Given the description of an element on the screen output the (x, y) to click on. 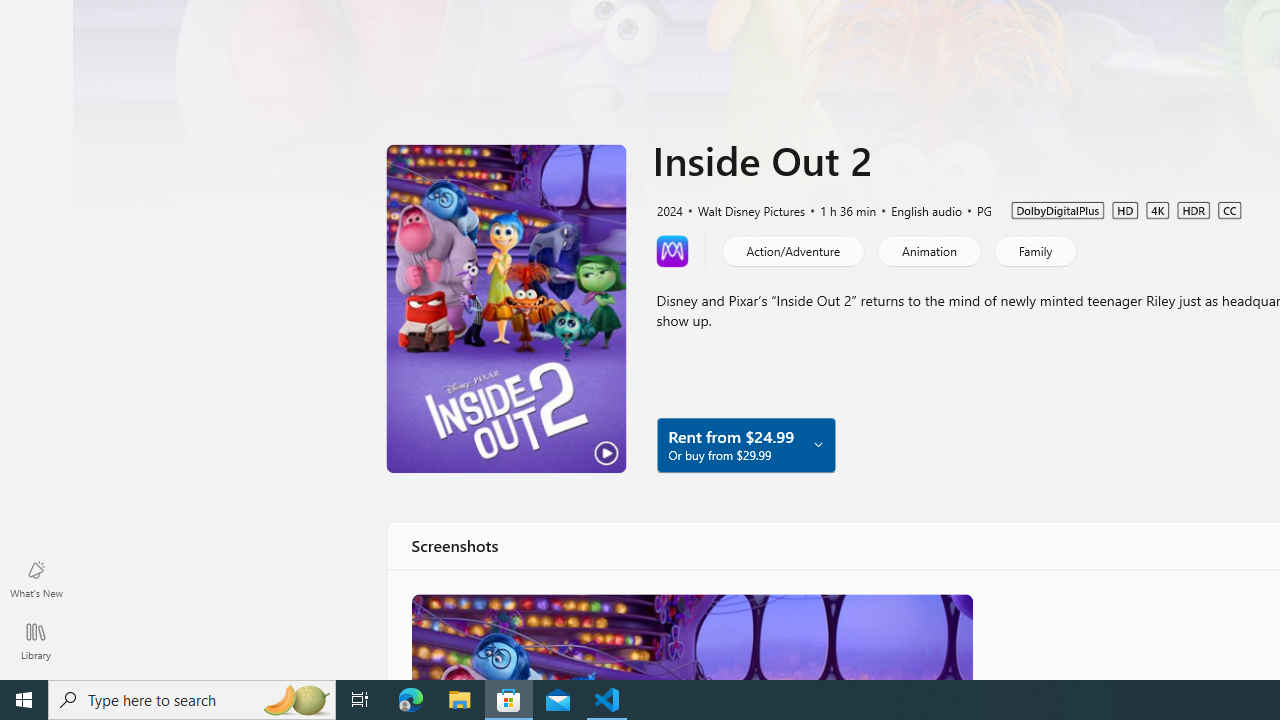
Animation (928, 250)
Class: ListViewItem (690, 636)
Action/Adventure (792, 250)
Play Trailer (505, 308)
Rent from $24.99 Or buy from $29.99 (745, 444)
1 h 36 min (839, 209)
2024 (667, 209)
Learn more about Movies Anywhere (671, 250)
Walt Disney Pictures (742, 209)
PG (975, 209)
Family (1034, 250)
English audio (917, 209)
